Given the description of an element on the screen output the (x, y) to click on. 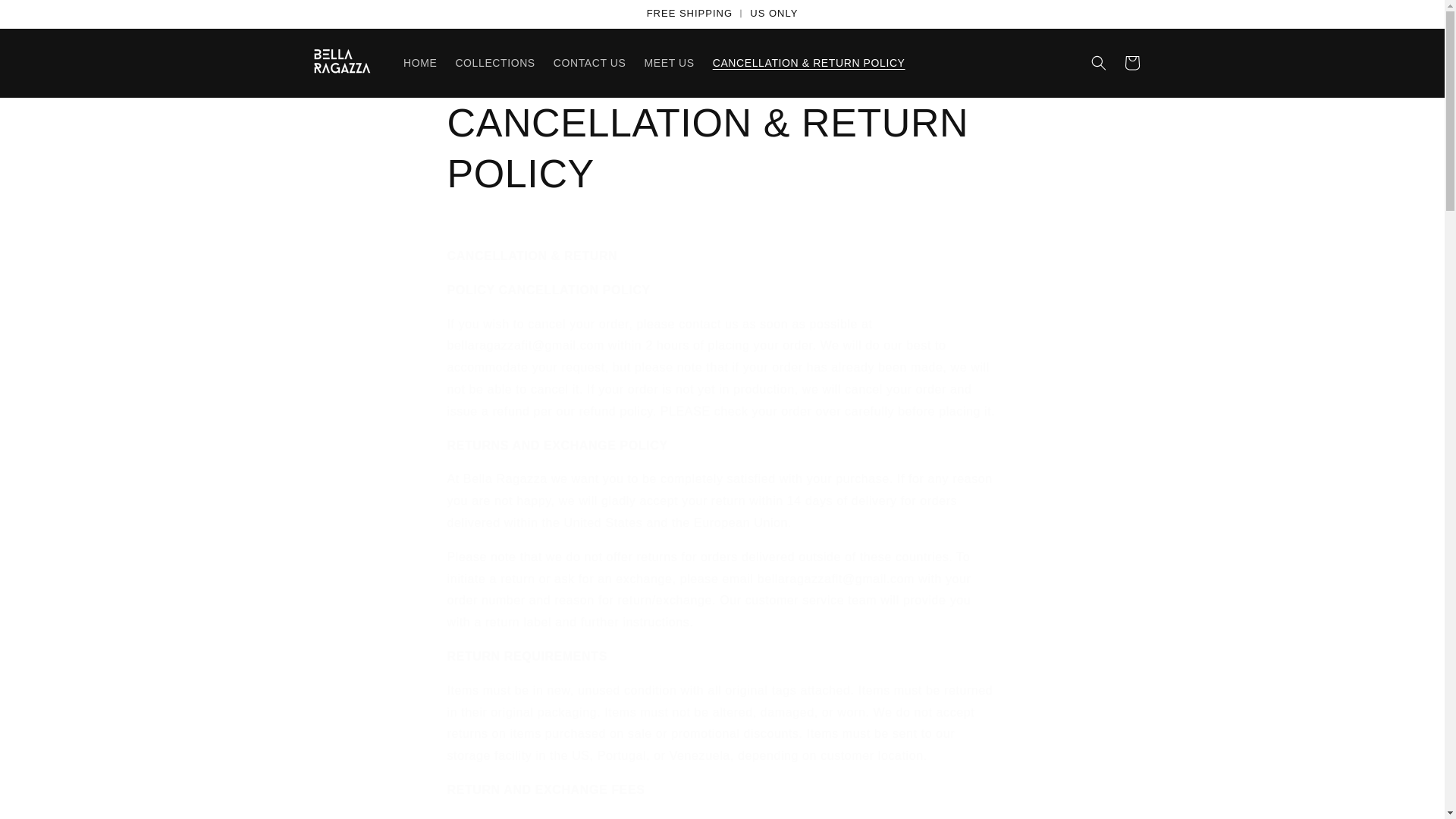
COLLECTIONS (494, 62)
CONTACT US (589, 62)
HOME (419, 62)
Cart (1131, 62)
MEET US (668, 62)
Skip to content (45, 17)
